Given the description of an element on the screen output the (x, y) to click on. 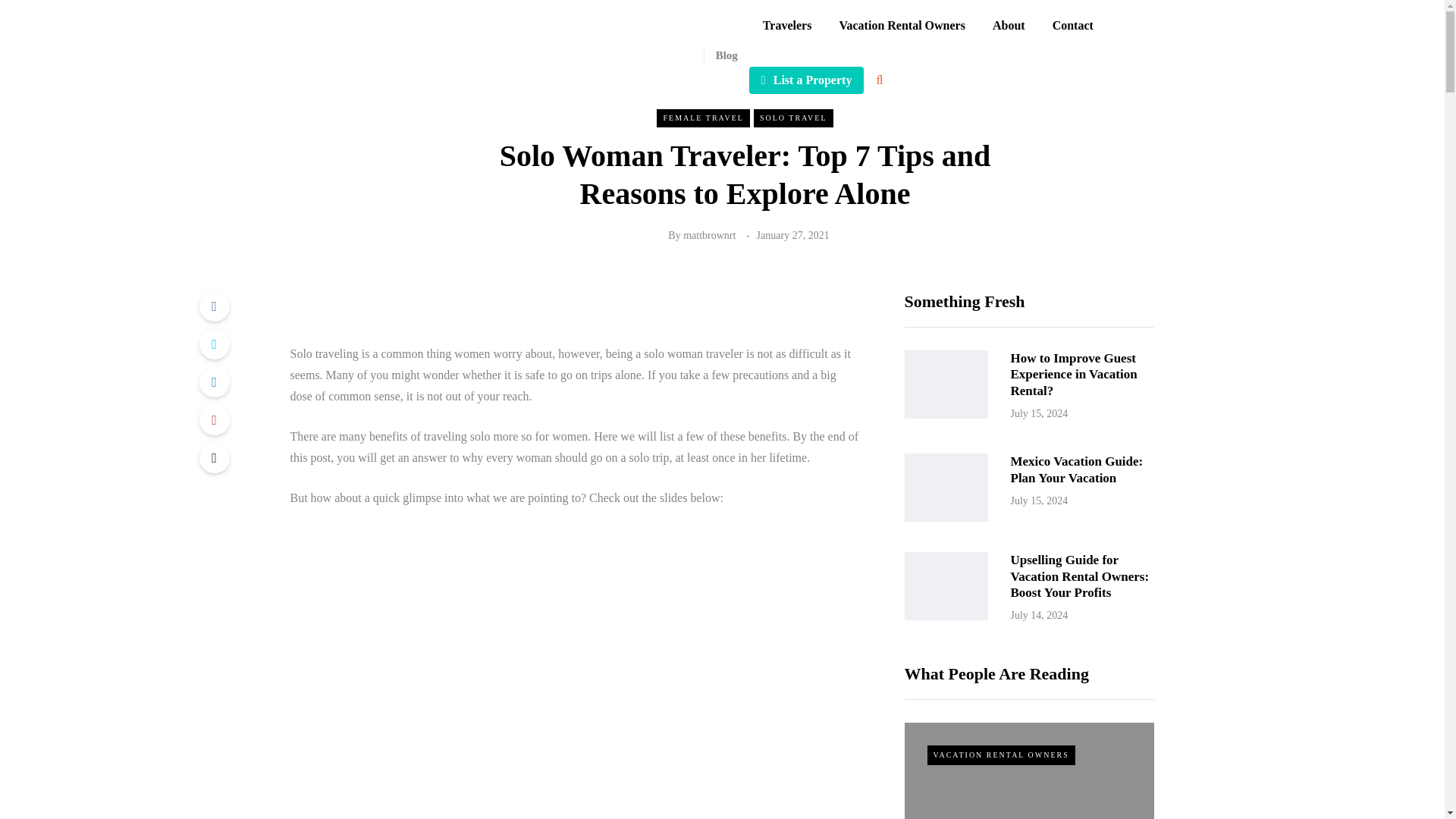
About (1008, 25)
List a Property (806, 80)
Pin this (213, 419)
Contact (1072, 25)
Share by Email (213, 458)
SOLO TRAVEL (793, 117)
Blog (720, 55)
FEMALE TRAVEL (702, 117)
Search (758, 202)
Posts by mattbrownrt (708, 234)
Travelers (787, 25)
Share with Facebook (213, 306)
Share with LinkedIn (213, 381)
Tweet this (213, 344)
Vacation Rental Owners (901, 25)
